Given the description of an element on the screen output the (x, y) to click on. 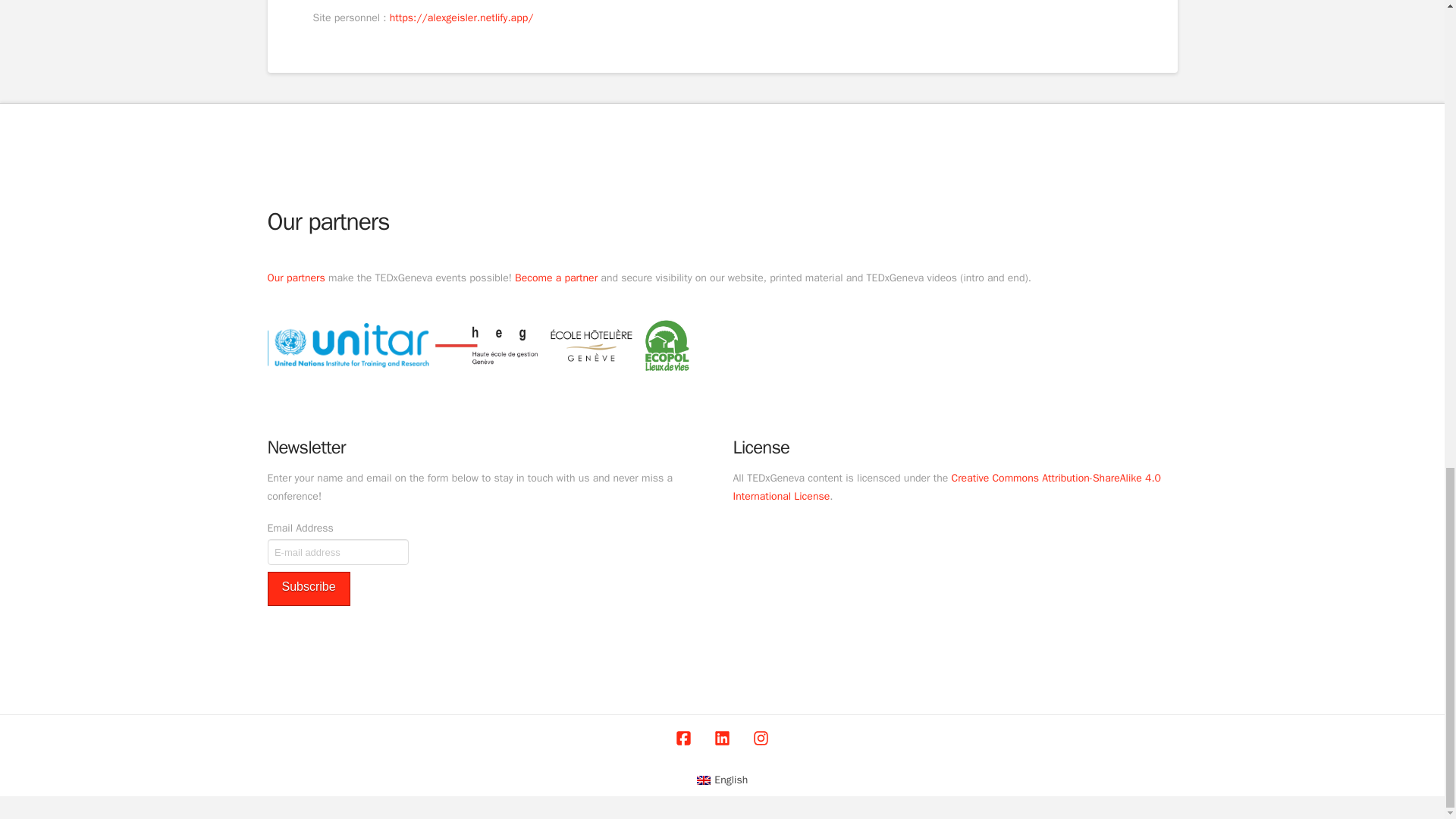
Subscribe (307, 588)
